Given the description of an element on the screen output the (x, y) to click on. 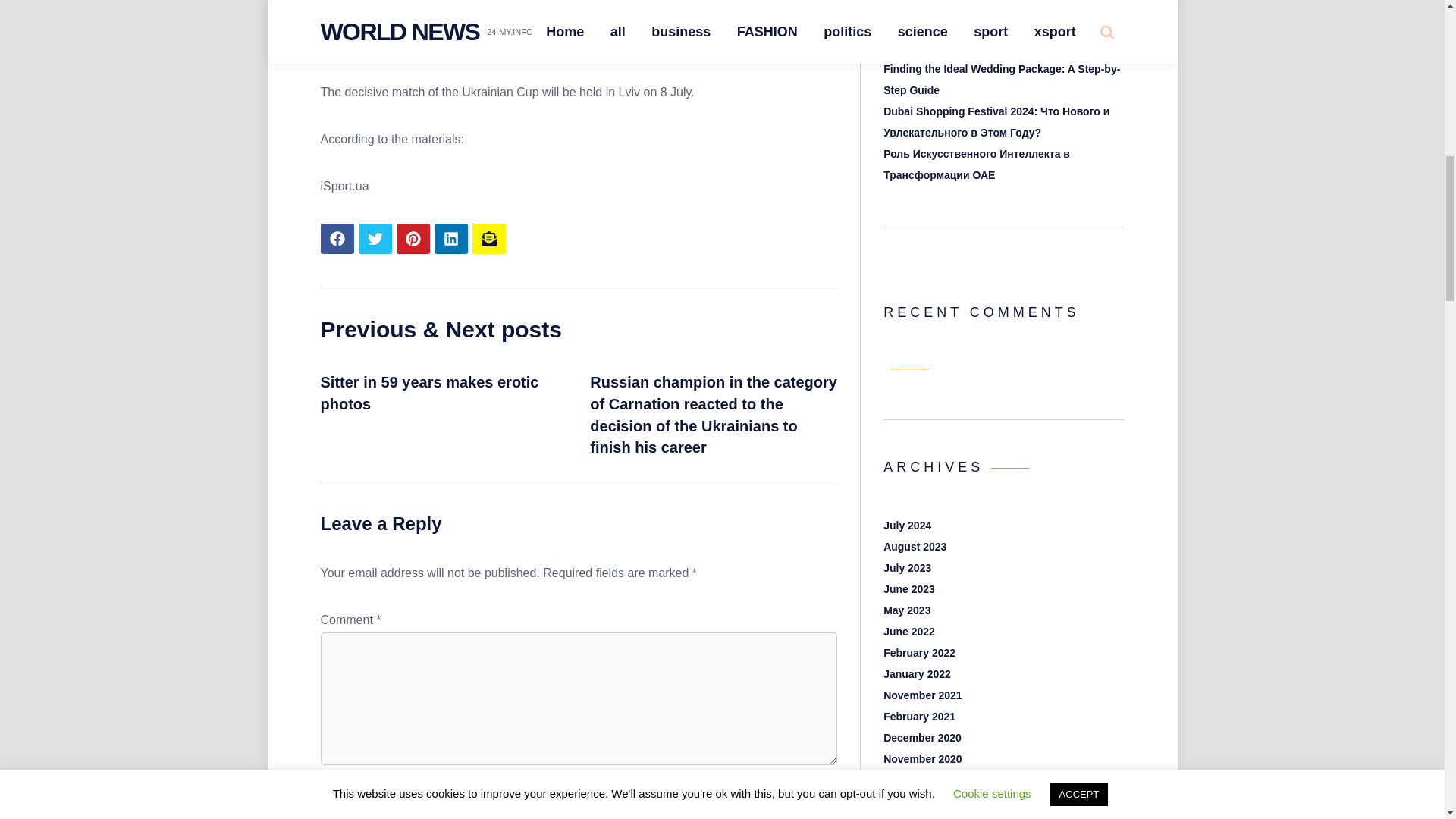
Sitter in 59 years makes erotic photos (429, 392)
July 2023 (907, 567)
June 2023 (908, 589)
August 2023 (914, 546)
May 2023 (906, 610)
July 2024 (907, 525)
Finding the Ideal Wedding Package: A Step-by-Step Guide (1001, 79)
February 2022 (919, 653)
June 2022 (908, 631)
Sitter in 59 years makes erotic photos (429, 392)
